Given the description of an element on the screen output the (x, y) to click on. 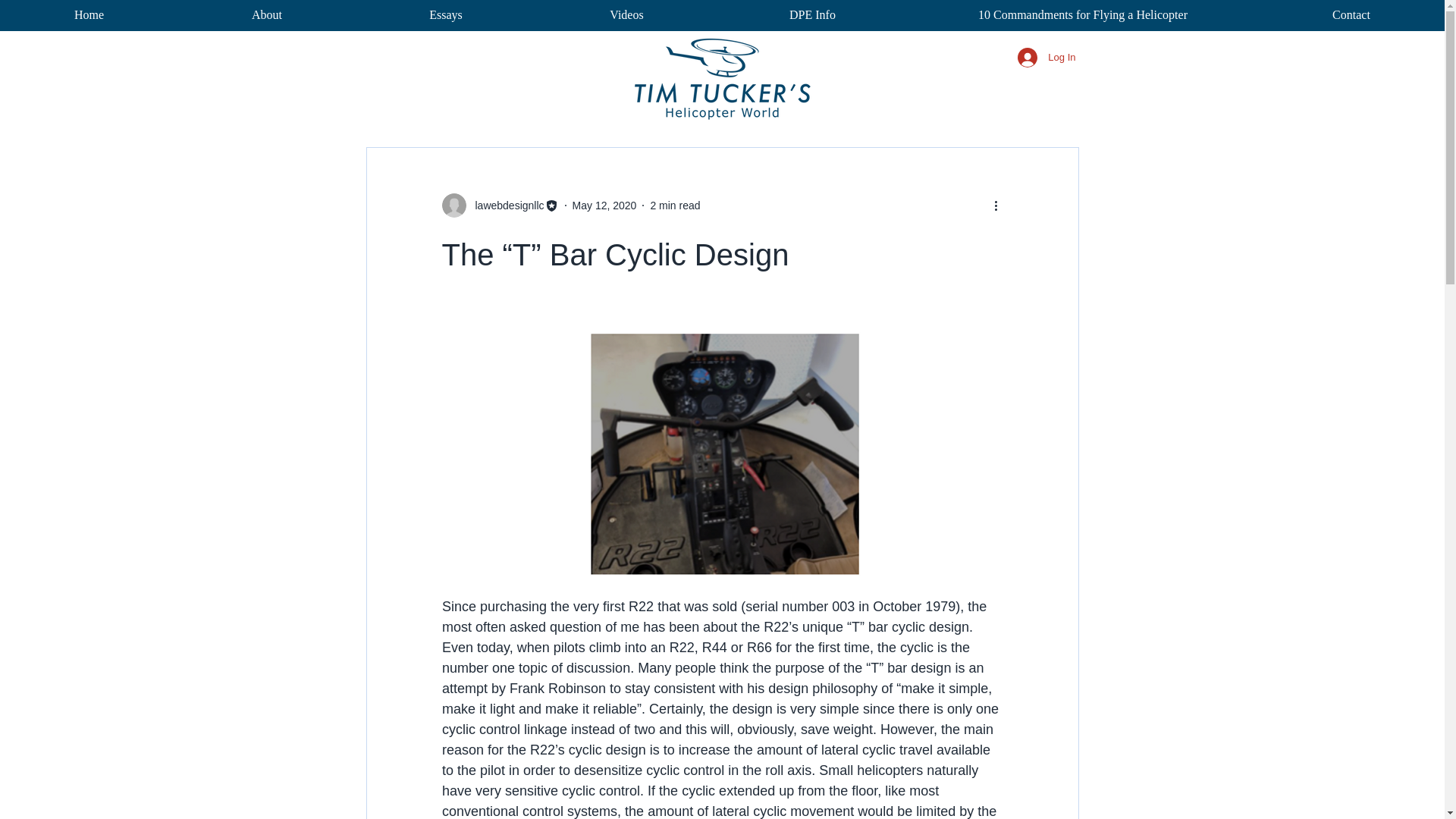
Videos (626, 14)
Essays (445, 14)
DPE Info (812, 14)
10 Commandments for Flying a Helicopter (1082, 14)
lawebdesignllc (504, 204)
May 12, 2020 (604, 204)
2 min read (674, 204)
About (266, 14)
Home (88, 14)
lawebdesignllc (499, 205)
Log In (1046, 57)
